Given the description of an element on the screen output the (x, y) to click on. 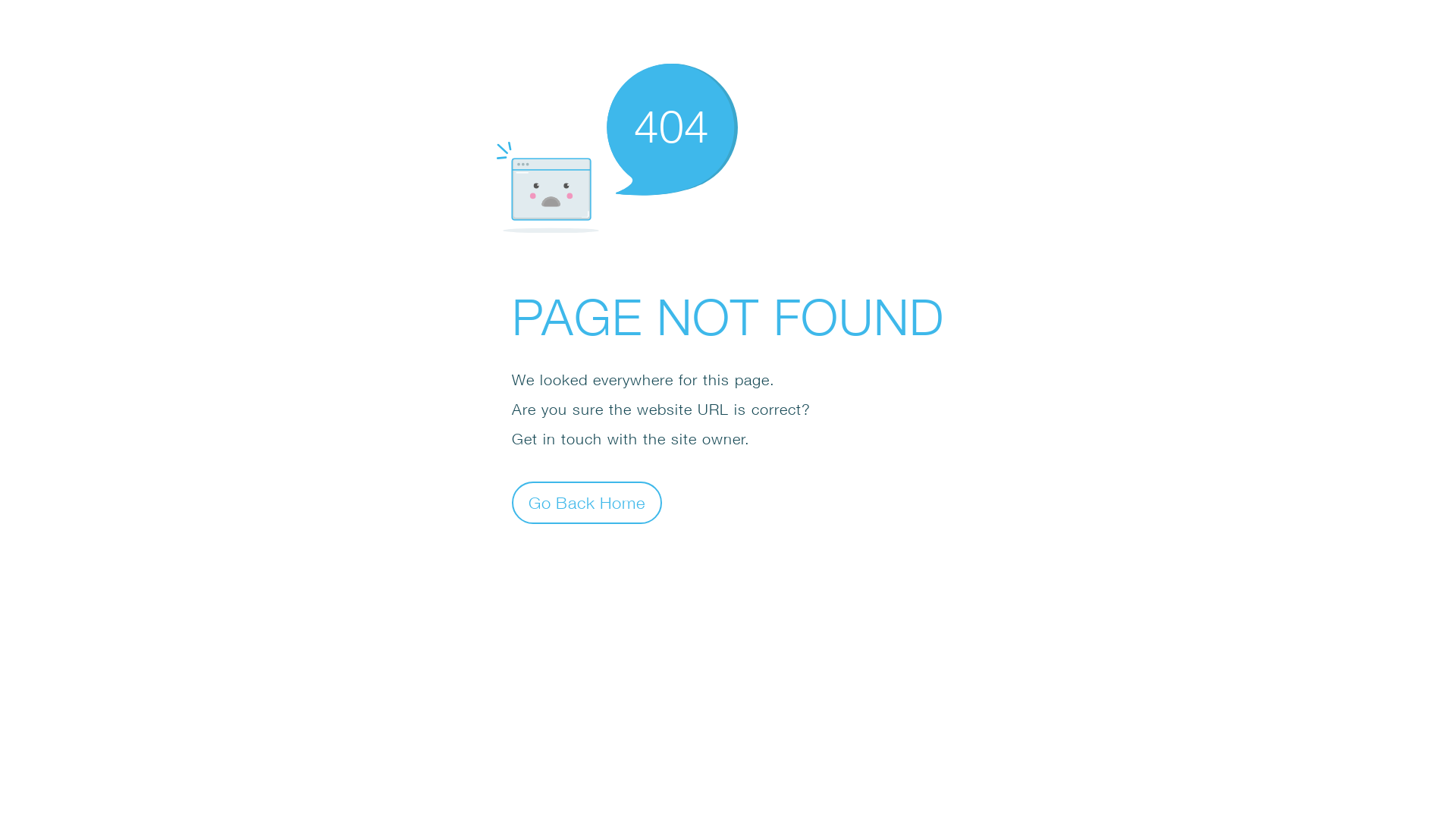
Go Back Home Element type: text (586, 502)
